Given the description of an element on the screen output the (x, y) to click on. 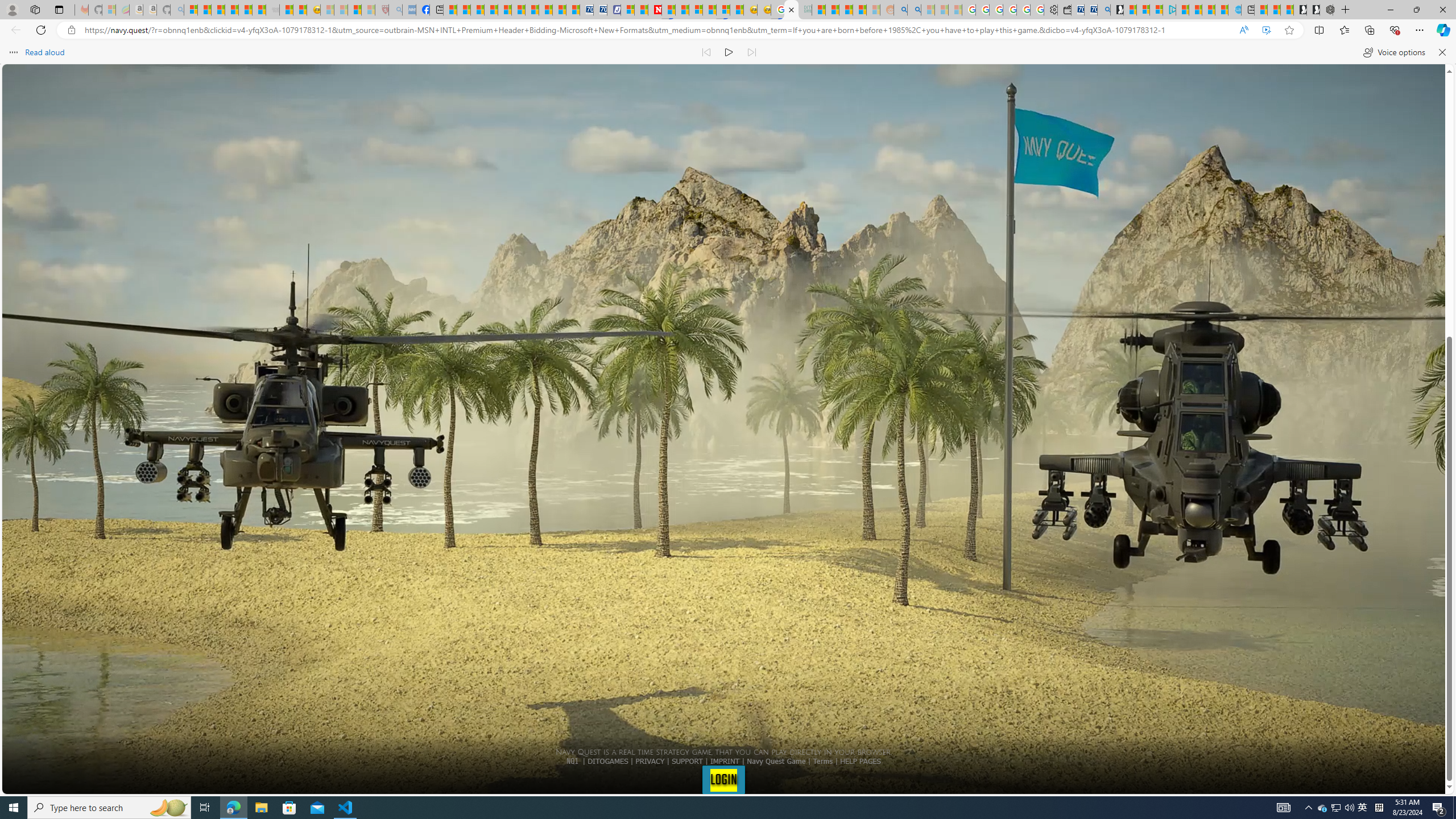
Science - MSN (354, 9)
New Report Confirms 2023 Was Record Hot | Watch (245, 9)
SUPPORT (687, 760)
World - MSN (477, 9)
IMPRINT (724, 760)
Continue to read aloud (Ctrl+Shift+U) (729, 52)
